Given the description of an element on the screen output the (x, y) to click on. 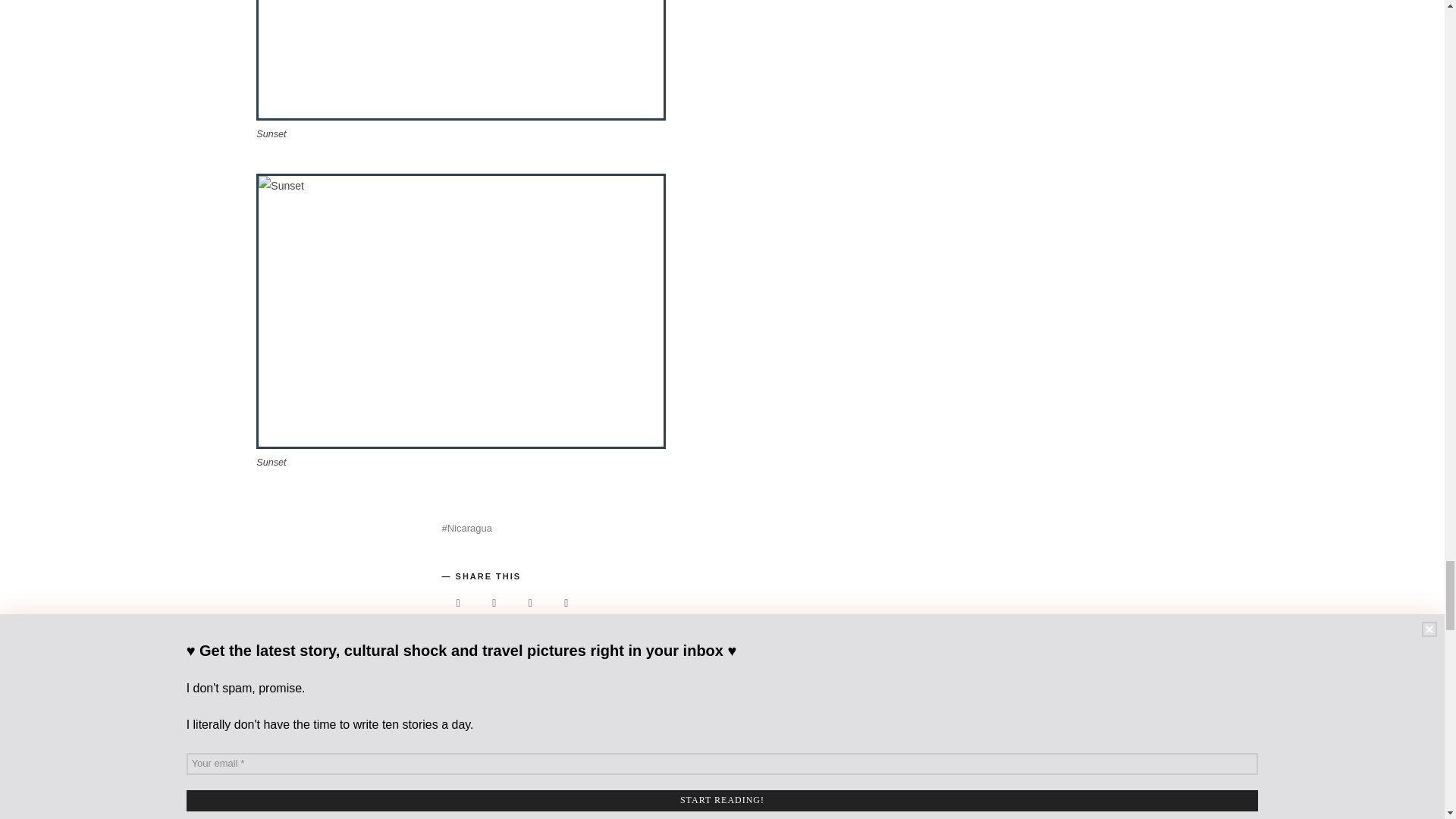
Email this post to a friend (566, 603)
Share this post on Facebook (457, 603)
Pin it (530, 603)
Tweet this post to your followers (494, 603)
